Given the description of an element on the screen output the (x, y) to click on. 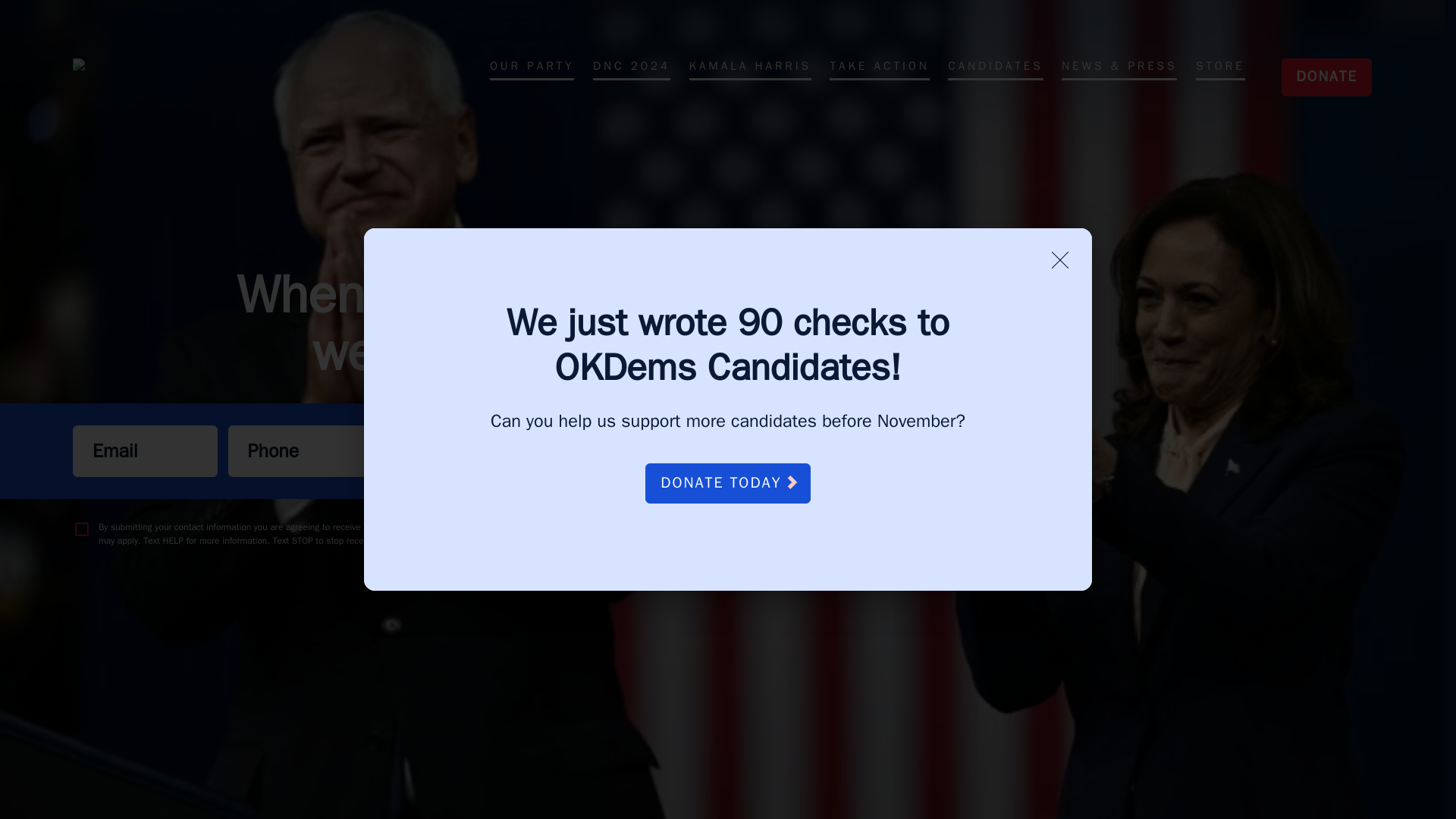
CANDIDATES (994, 69)
SUBMIT (616, 450)
DONATE (1317, 77)
OUR PARTY (532, 69)
DNC 2024 (630, 69)
TAKE ACTION (878, 69)
STORE (1219, 69)
DONATE (1326, 77)
KAMALA HARRIS (749, 69)
